Given the description of an element on the screen output the (x, y) to click on. 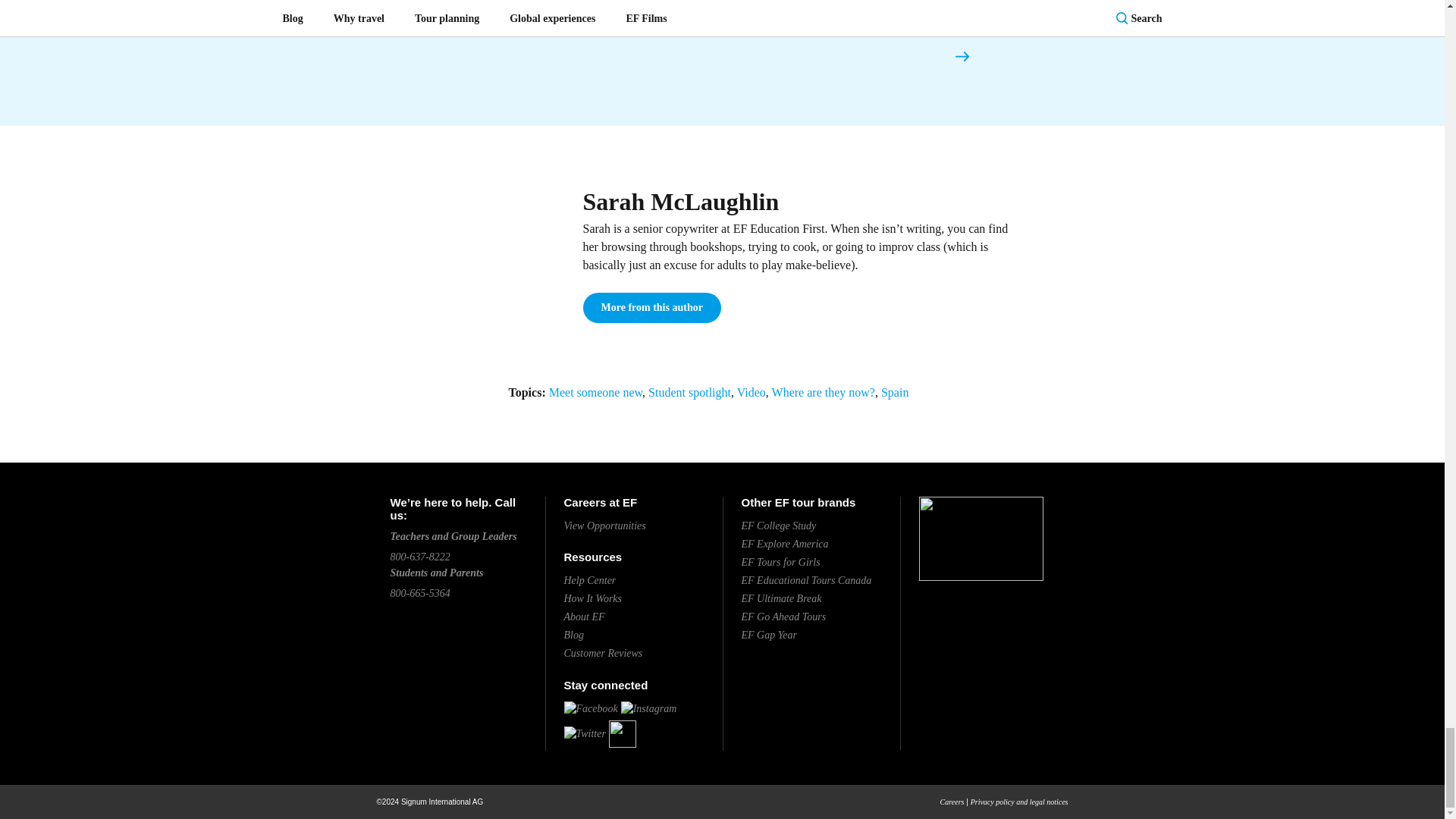
Youtube (622, 732)
Go Ahead Tours (784, 616)
College Study Tours (778, 525)
Twitter (584, 732)
Gap Year (768, 634)
EF Ultimate Break (781, 598)
Educational Tours - Canada (806, 580)
Girl Scouts (781, 562)
Explore America (784, 543)
Facebook (590, 708)
